Given the description of an element on the screen output the (x, y) to click on. 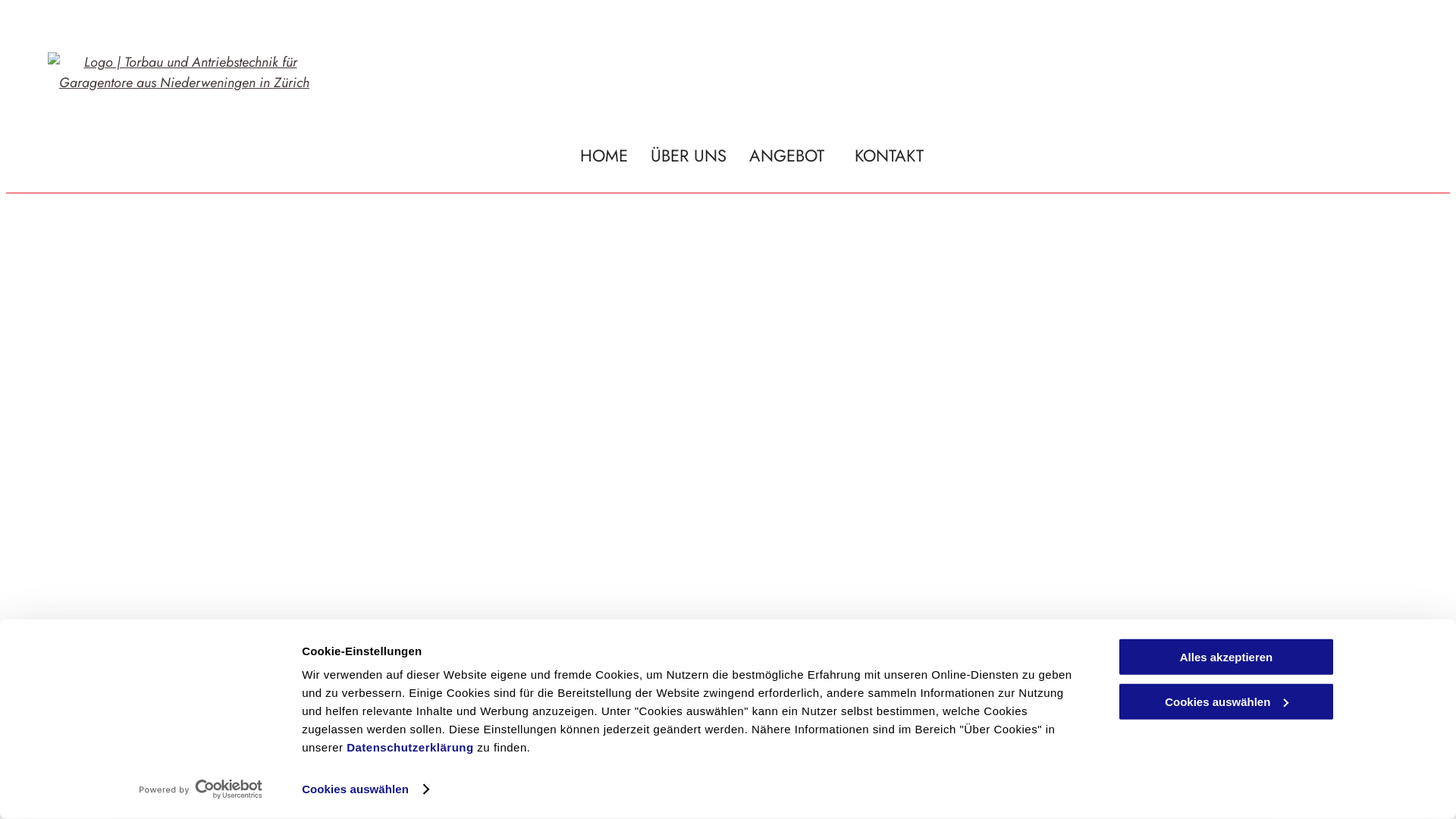
KONTAKT Element type: text (888, 156)
ANGEBOT Element type: text (790, 156)
Alles akzeptieren Element type: text (1225, 656)
HOME Element type: text (603, 156)
